Given the description of an element on the screen output the (x, y) to click on. 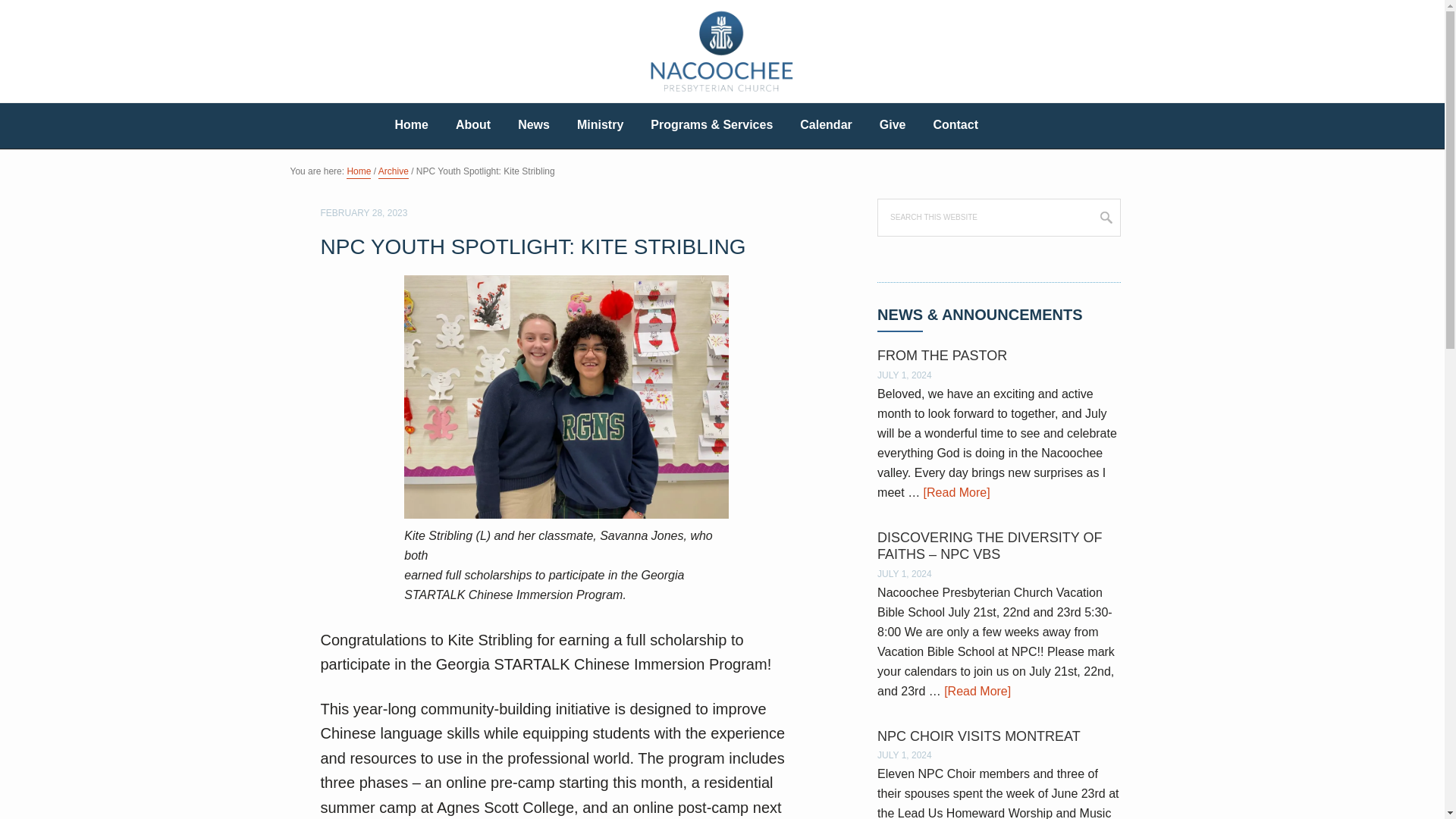
Home (410, 125)
News (533, 125)
Give (893, 125)
Home (358, 172)
Ministry (600, 125)
Calendar (825, 125)
About (472, 125)
Contact (954, 125)
Archive (393, 172)
